Given the description of an element on the screen output the (x, y) to click on. 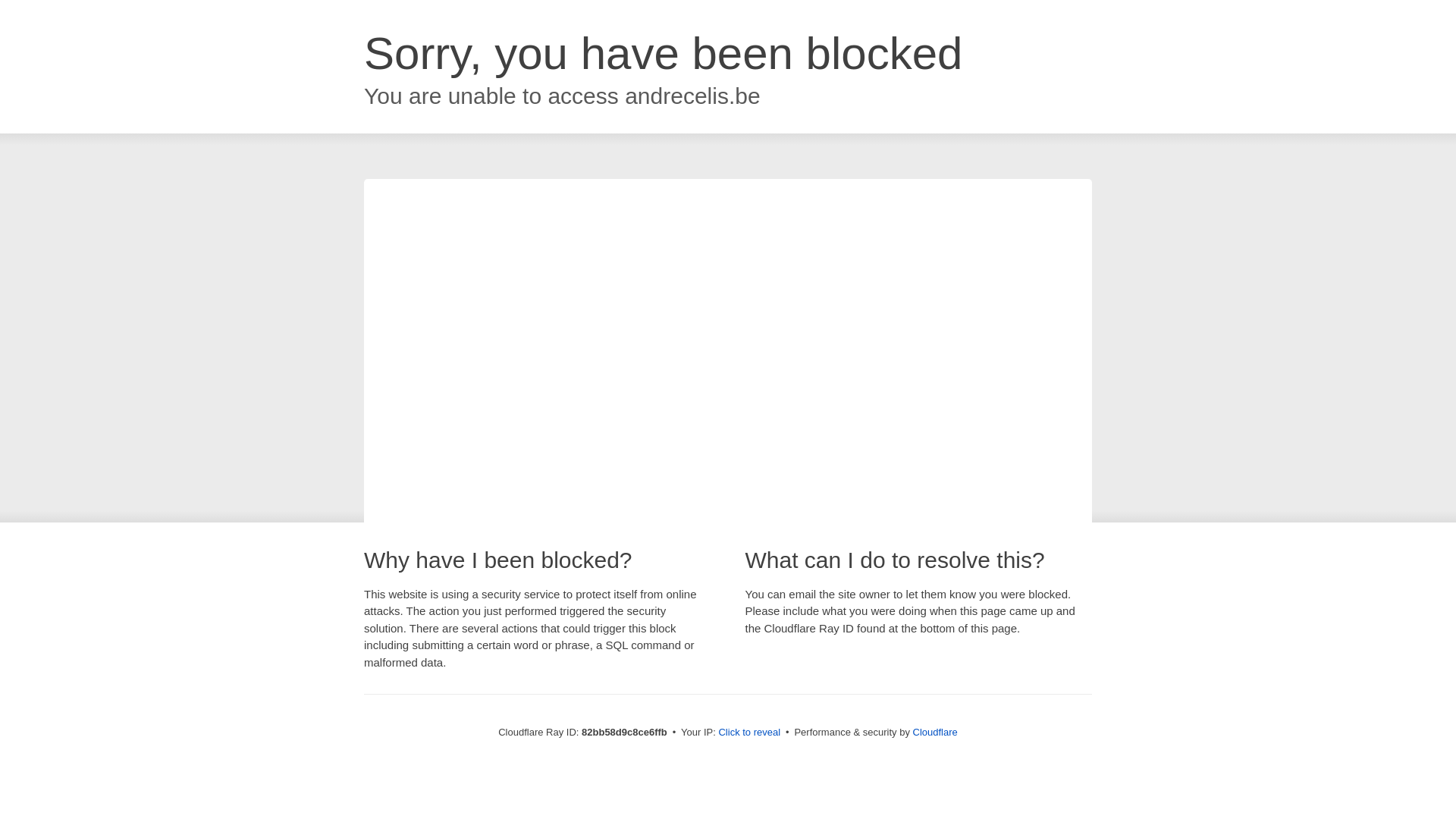
Click to reveal Element type: text (749, 732)
Cloudflare Element type: text (935, 731)
